Given the description of an element on the screen output the (x, y) to click on. 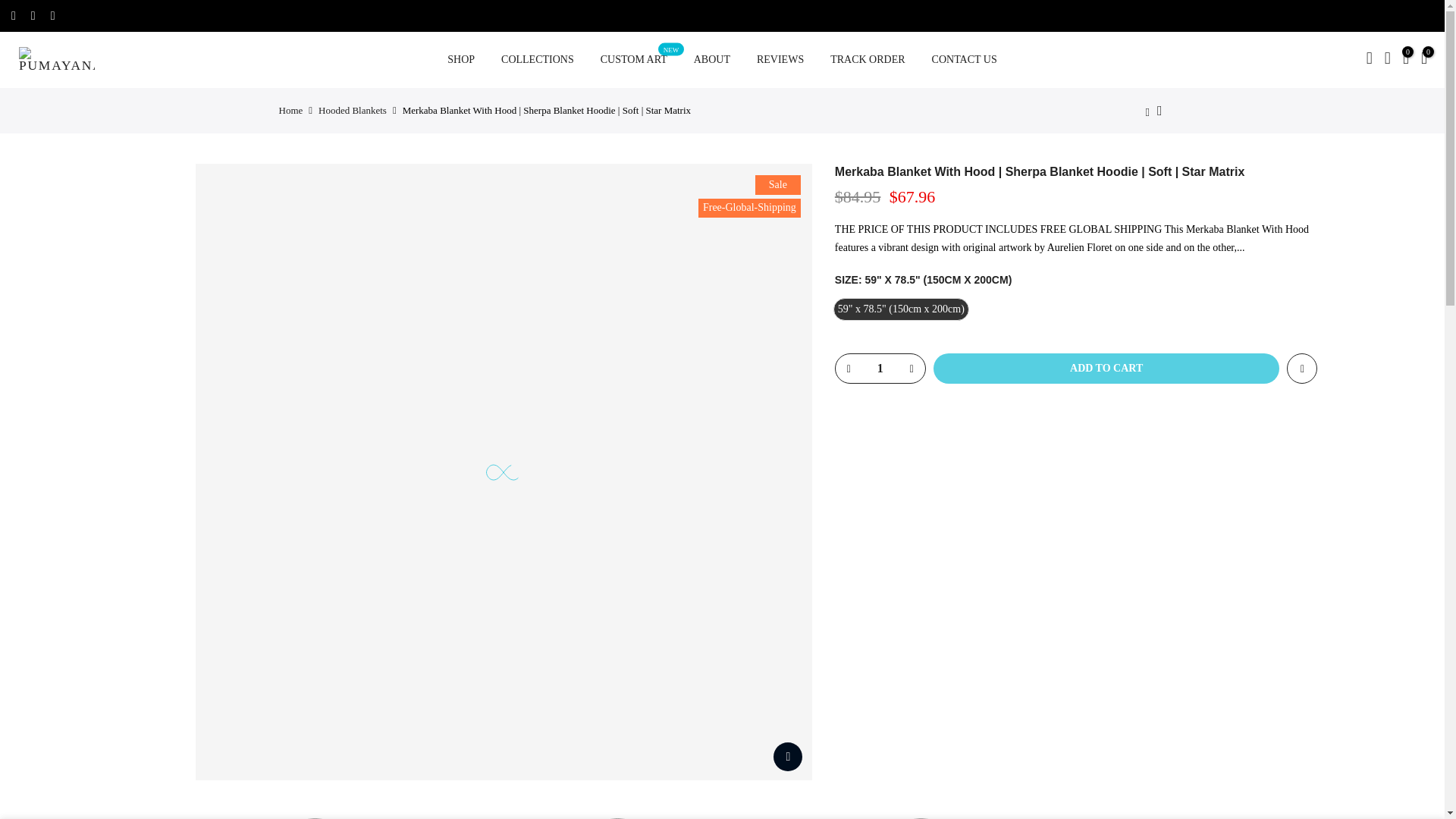
COLLECTIONS (537, 59)
SHOP (460, 59)
1 (879, 368)
